Given the description of an element on the screen output the (x, y) to click on. 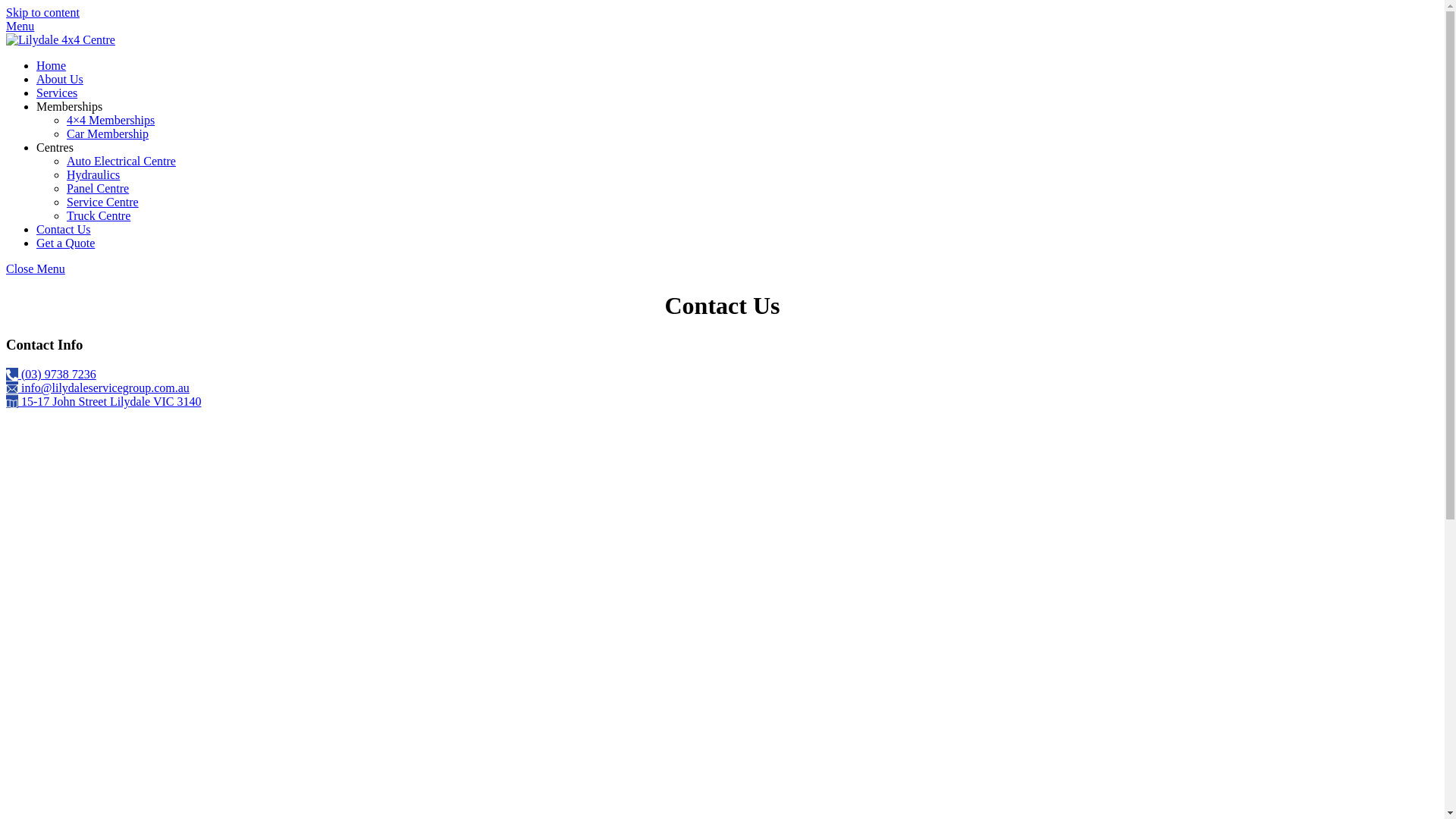
Centres Element type: text (54, 147)
About Us Element type: text (59, 78)
Service Centre Element type: text (102, 201)
Car Membership Element type: text (107, 133)
Close Menu Element type: text (35, 268)
Panel Centre Element type: text (97, 188)
Home Element type: text (50, 65)
15-17 John Street Lilydale VIC 3140 Element type: text (103, 401)
Menu Element type: text (20, 25)
Get a Quote Element type: text (65, 242)
Auto Electrical Centre Element type: text (120, 160)
Services Element type: text (56, 92)
info@lilydaleservicegroup.com.au Element type: text (97, 387)
Truck Centre Element type: text (98, 215)
Memberships Element type: text (69, 106)
Hydraulics Element type: text (92, 174)
Lilydale 4x4 Centre Element type: hover (60, 39)
Skip to content Element type: text (42, 12)
Contact Us Element type: text (63, 228)
